Given the description of an element on the screen output the (x, y) to click on. 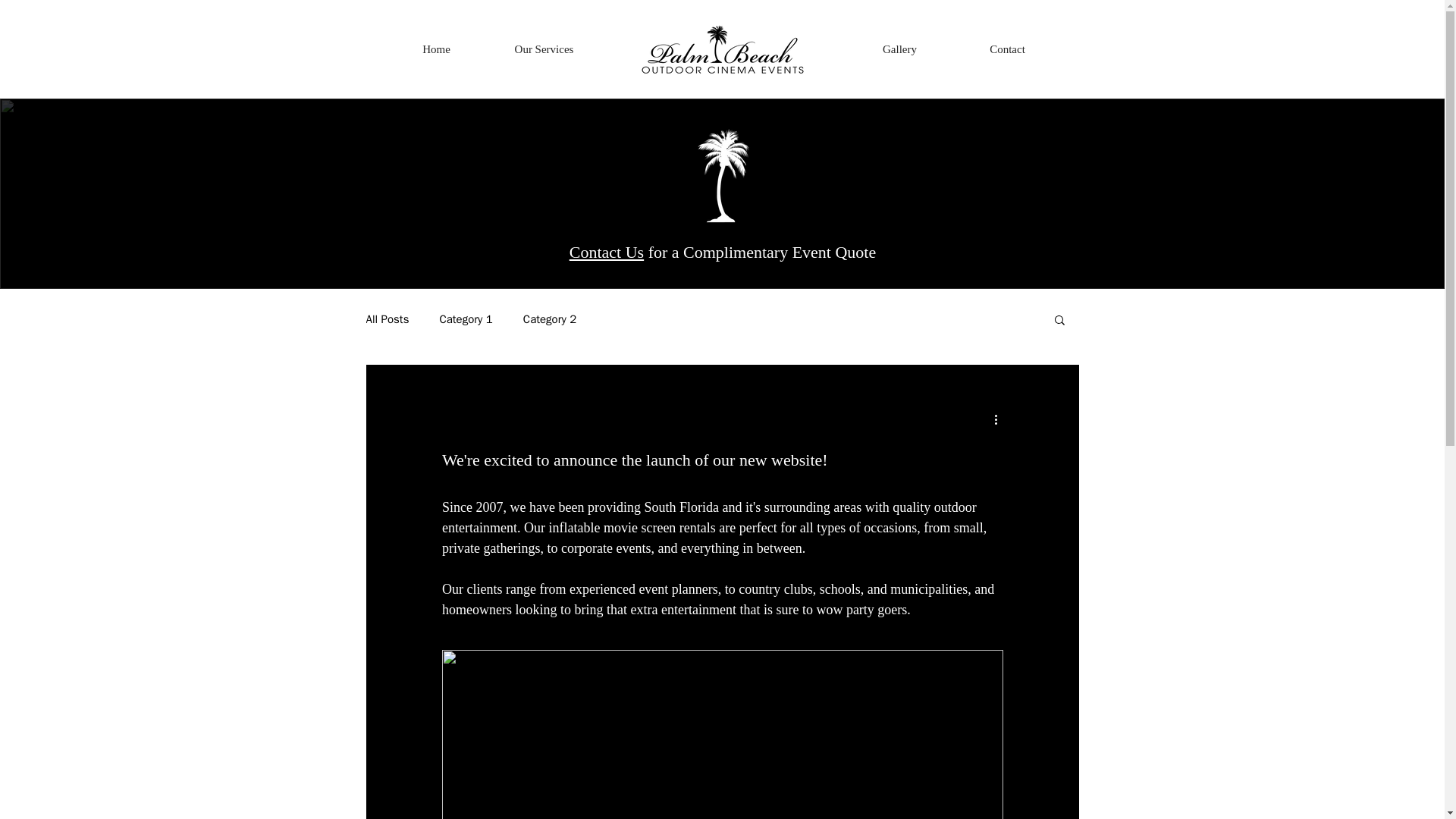
Category 2 (549, 319)
Home (435, 49)
All Posts (387, 319)
Gallery (899, 49)
Contact (1007, 49)
Contact Us (606, 251)
Our Services (542, 49)
Category 1 (465, 319)
